Given the description of an element on the screen output the (x, y) to click on. 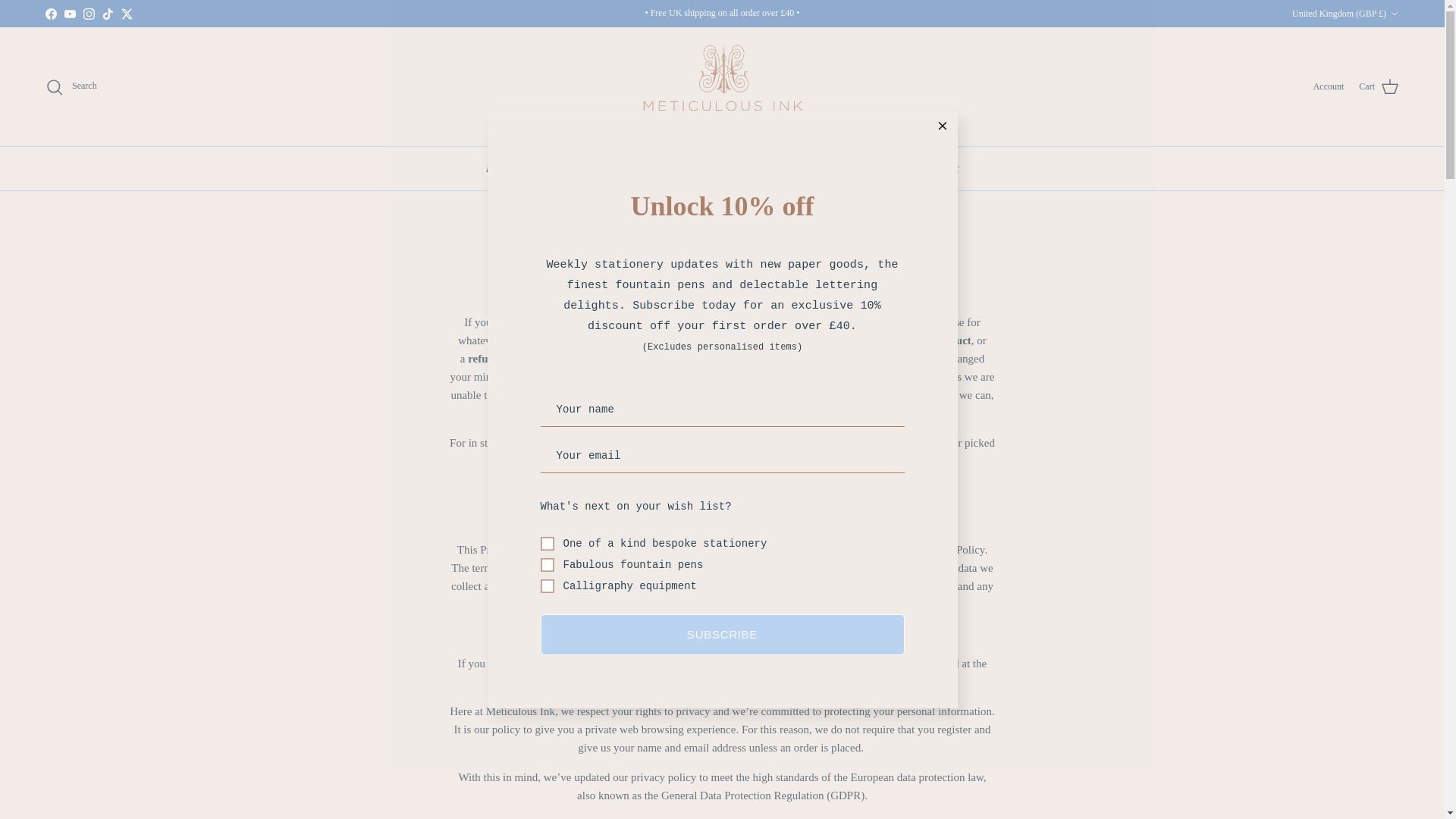
Meticulous Ink on TikTok (107, 12)
Shop (682, 168)
Twitter (126, 12)
Account (1328, 86)
Meticulous Ink on Instagram (88, 12)
Ready to Order (608, 168)
Search (71, 86)
Facebook (50, 12)
Meticulous Ink on YouTube (69, 12)
Cart (1378, 86)
YouTube (69, 12)
Meticulous Ink on Twitter (126, 12)
Instagram (88, 12)
Meticulous Ink on Facebook (50, 12)
Bespoke Print (515, 168)
